Given the description of an element on the screen output the (x, y) to click on. 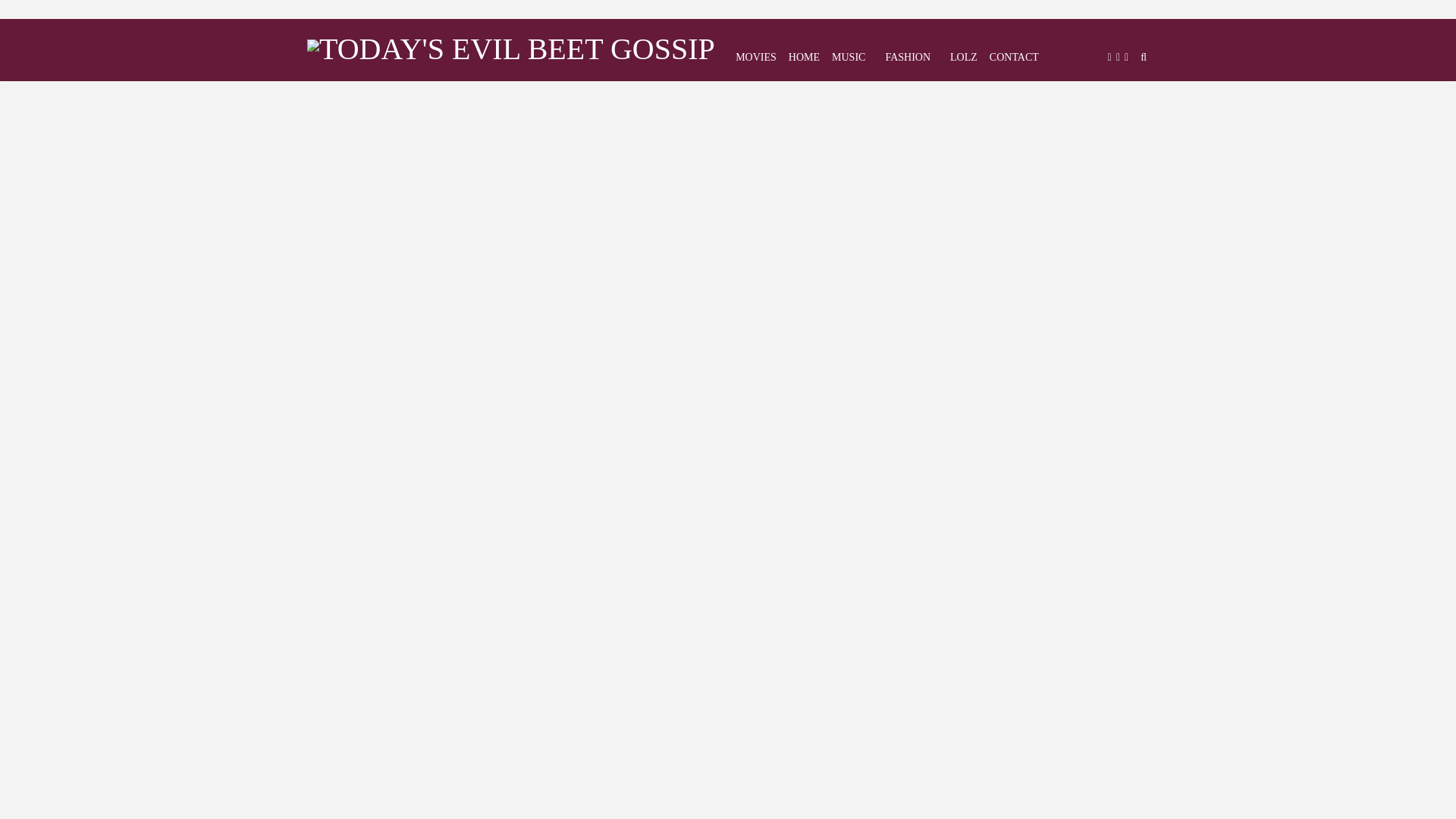
Today's Evil Beet Gossip (510, 45)
